Given the description of an element on the screen output the (x, y) to click on. 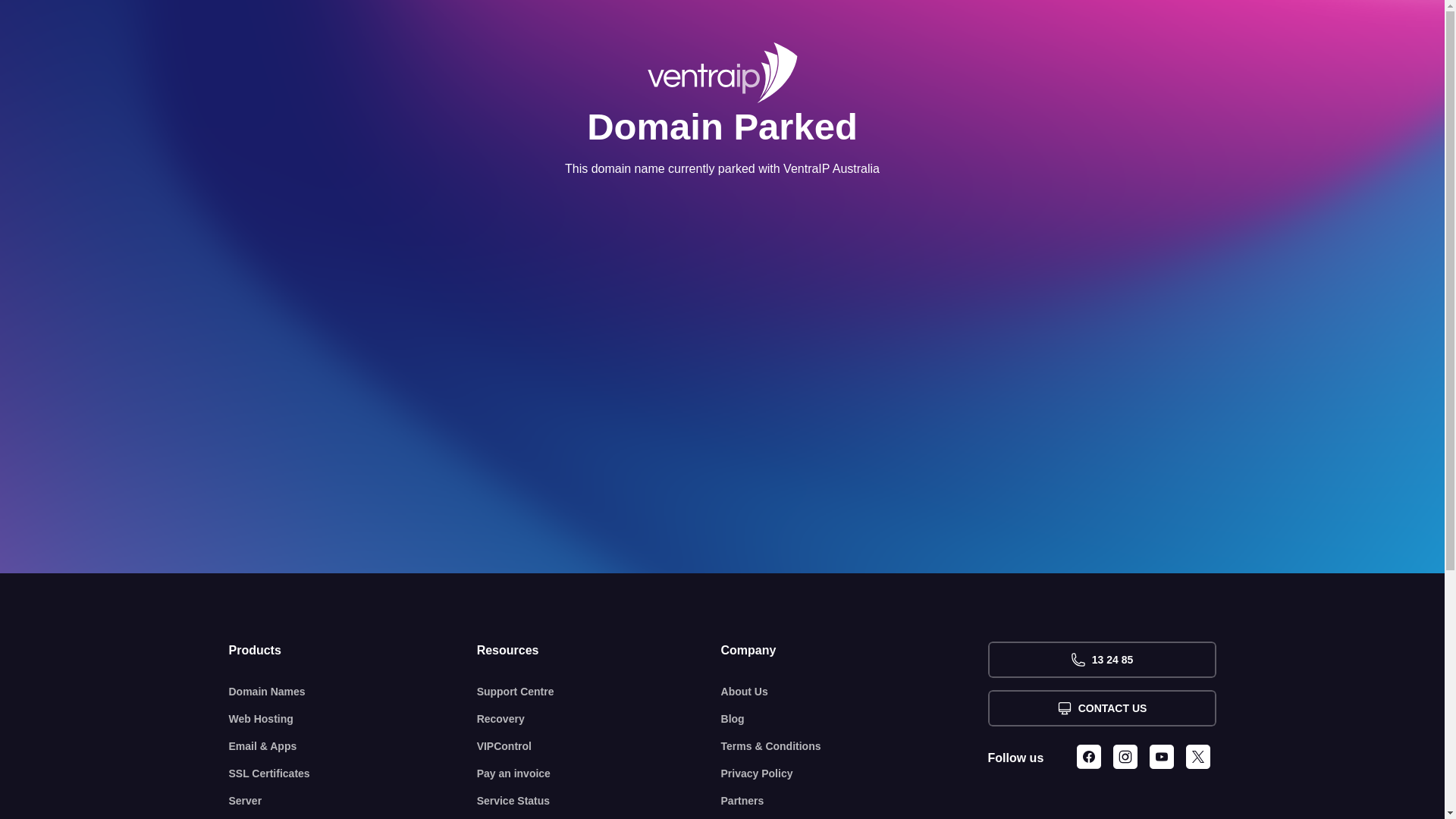
Service Status Element type: text (598, 800)
Recovery Element type: text (598, 718)
SSL Certificates Element type: text (352, 773)
Privacy Policy Element type: text (854, 773)
VIPControl Element type: text (598, 745)
Email & Apps Element type: text (352, 745)
Terms & Conditions Element type: text (854, 745)
CONTACT US Element type: text (1101, 708)
About Us Element type: text (854, 691)
Domain Names Element type: text (352, 691)
Pay an invoice Element type: text (598, 773)
Web Hosting Element type: text (352, 718)
Server Element type: text (352, 800)
Support Centre Element type: text (598, 691)
Blog Element type: text (854, 718)
Partners Element type: text (854, 800)
13 24 85 Element type: text (1101, 659)
